Given the description of an element on the screen output the (x, y) to click on. 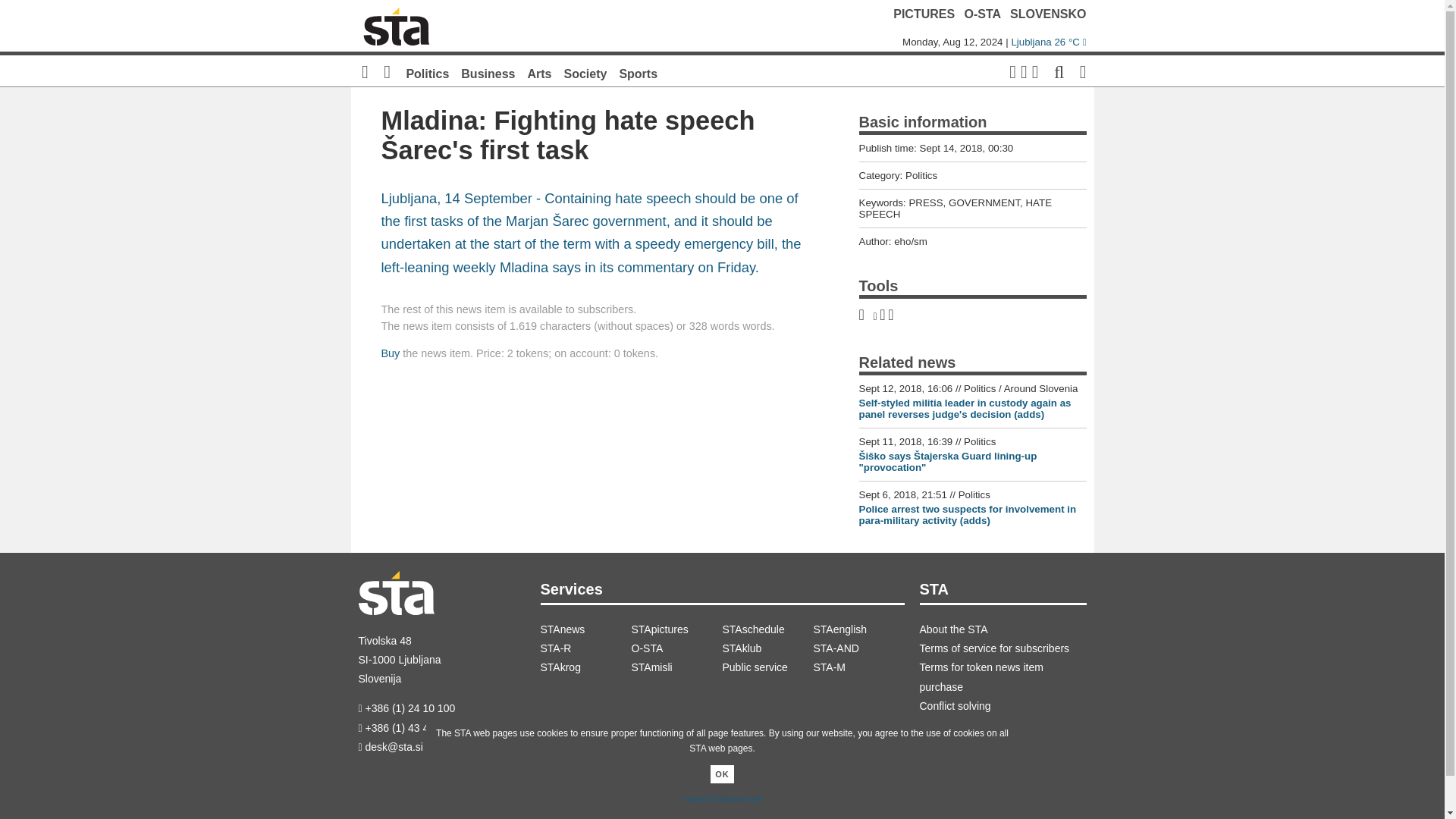
STAklub (767, 648)
PICTURES (924, 13)
STAmisli (676, 667)
STAnews (585, 629)
STAschedule (767, 629)
SLOVENSKO (1048, 13)
STA-M (858, 667)
O-STA (676, 648)
Sports (638, 73)
Society (585, 73)
